Given the description of an element on the screen output the (x, y) to click on. 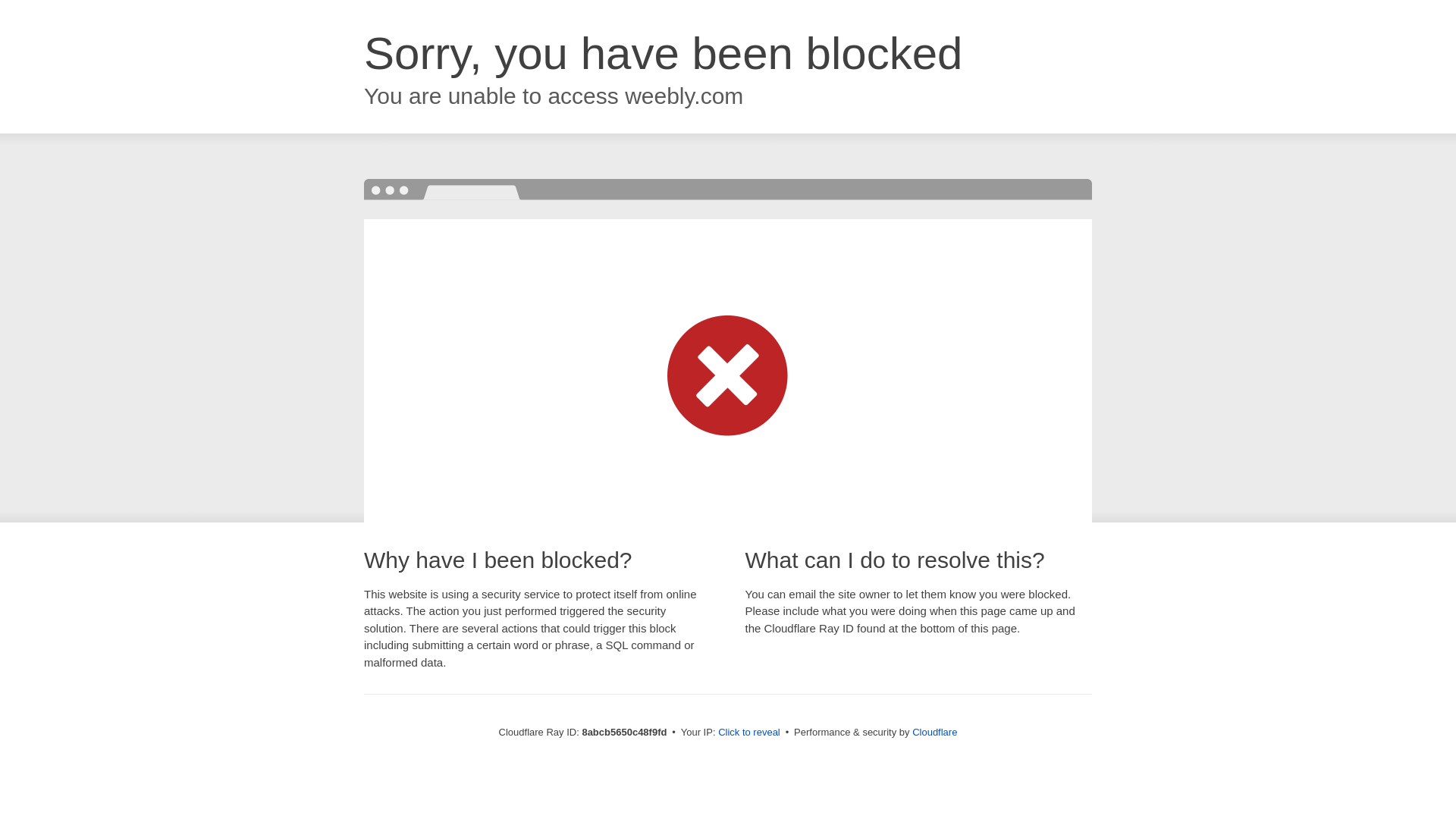
Cloudflare (934, 731)
Click to reveal (748, 732)
